Given the description of an element on the screen output the (x, y) to click on. 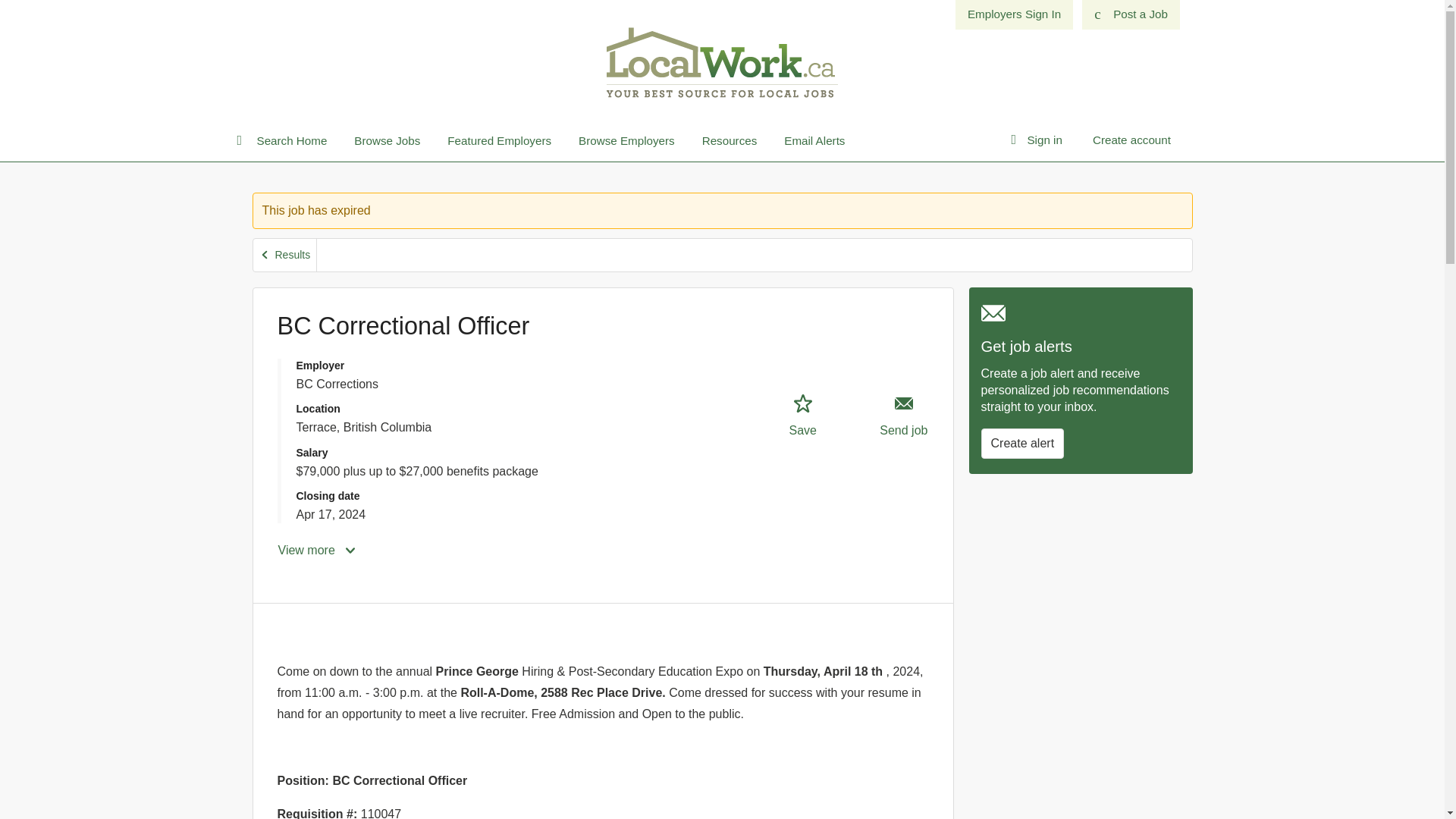
Results (285, 255)
Resources (729, 141)
Employers Sign In (1014, 14)
LocalWork.ca (722, 61)
Sign in (1043, 140)
Create account (1131, 140)
Create alert (1022, 443)
View more (318, 550)
Featured Employers (498, 141)
Browse Employers (626, 141)
Post a Job (1130, 14)
Search Home (287, 141)
Browse Jobs (386, 141)
Email Alerts (814, 141)
